Given the description of an element on the screen output the (x, y) to click on. 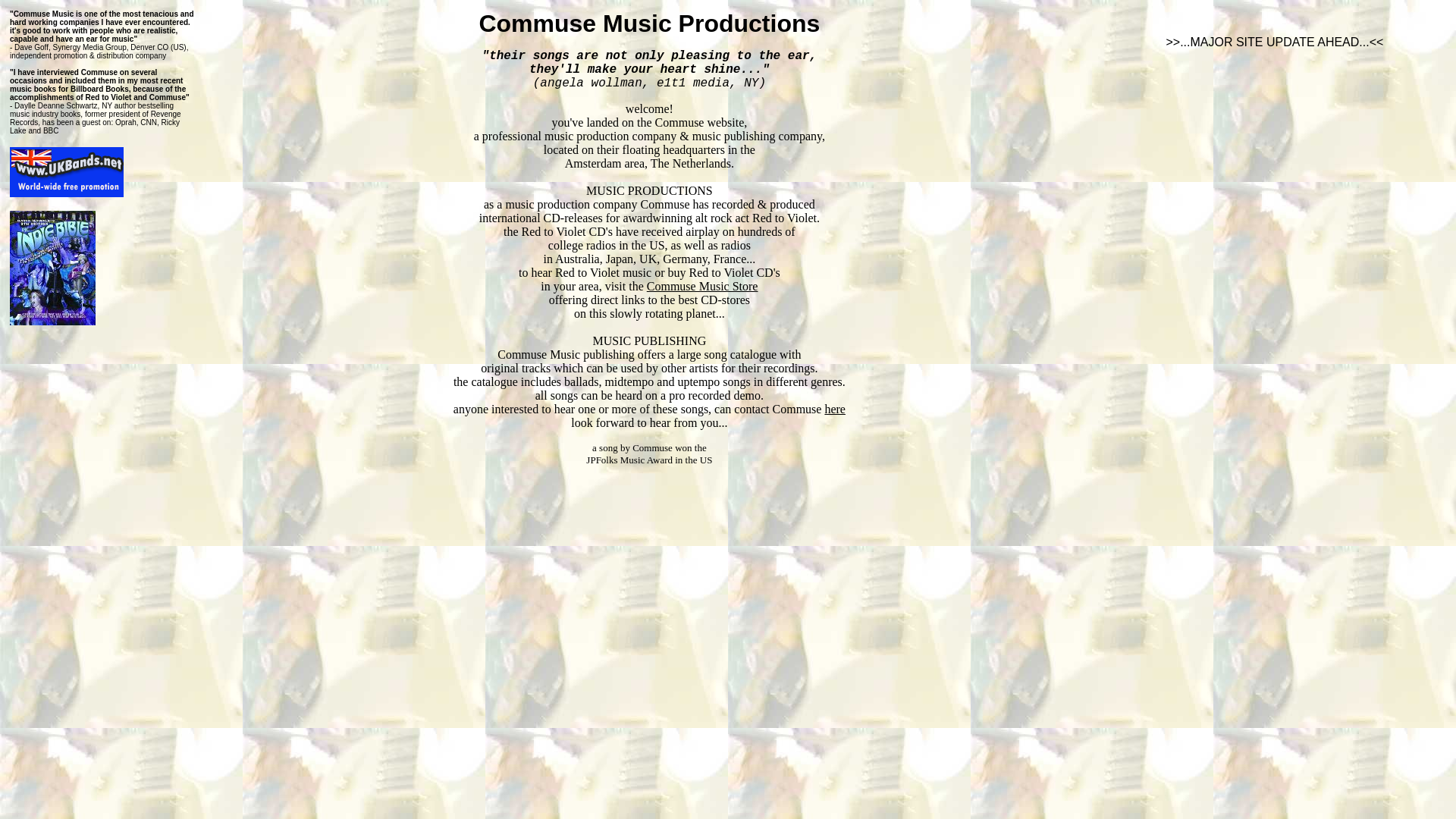
Commuse Music Store (702, 286)
here (834, 408)
